Given the description of an element on the screen output the (x, y) to click on. 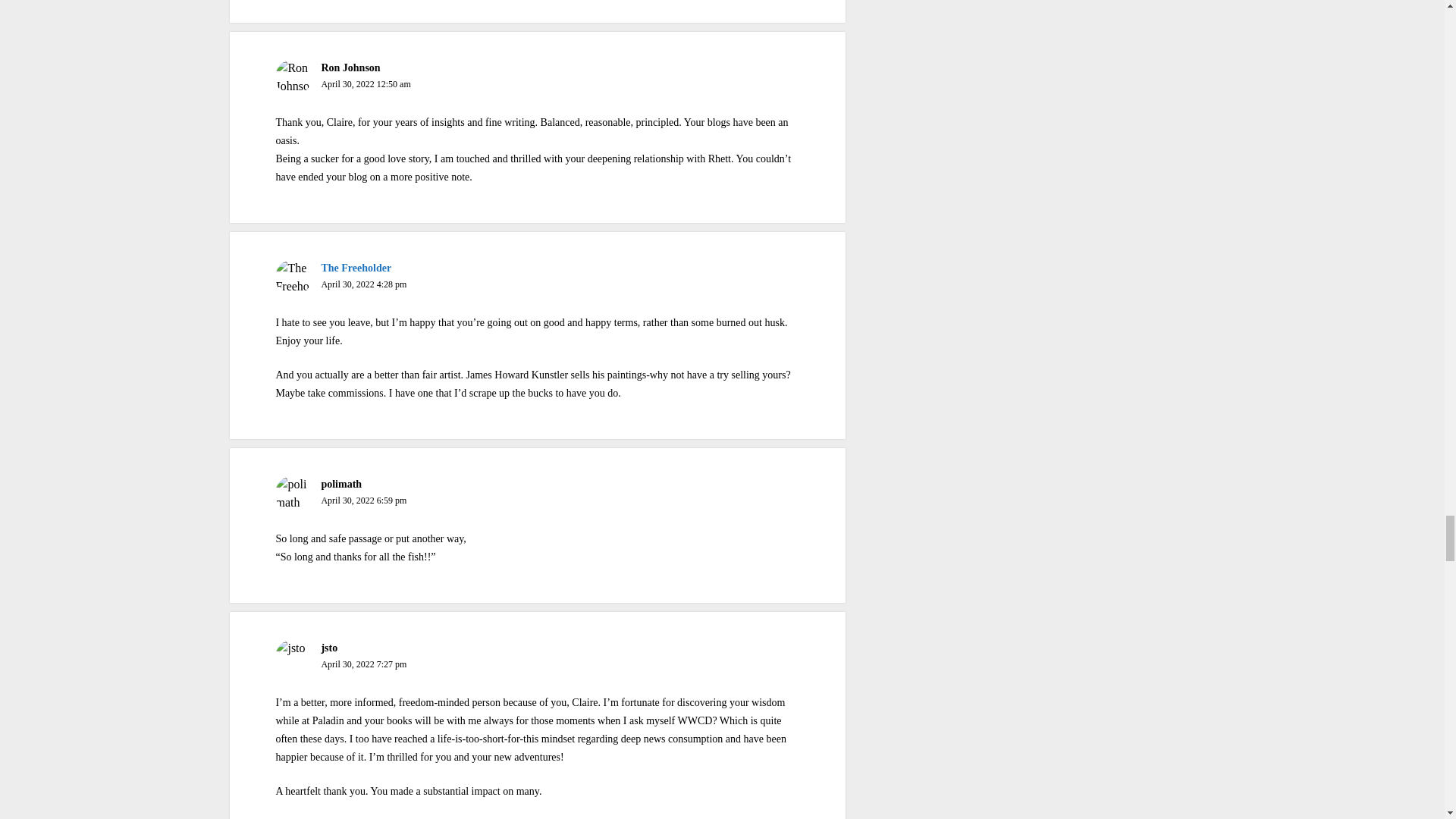
The Freeholder (355, 267)
